Given the description of an element on the screen output the (x, y) to click on. 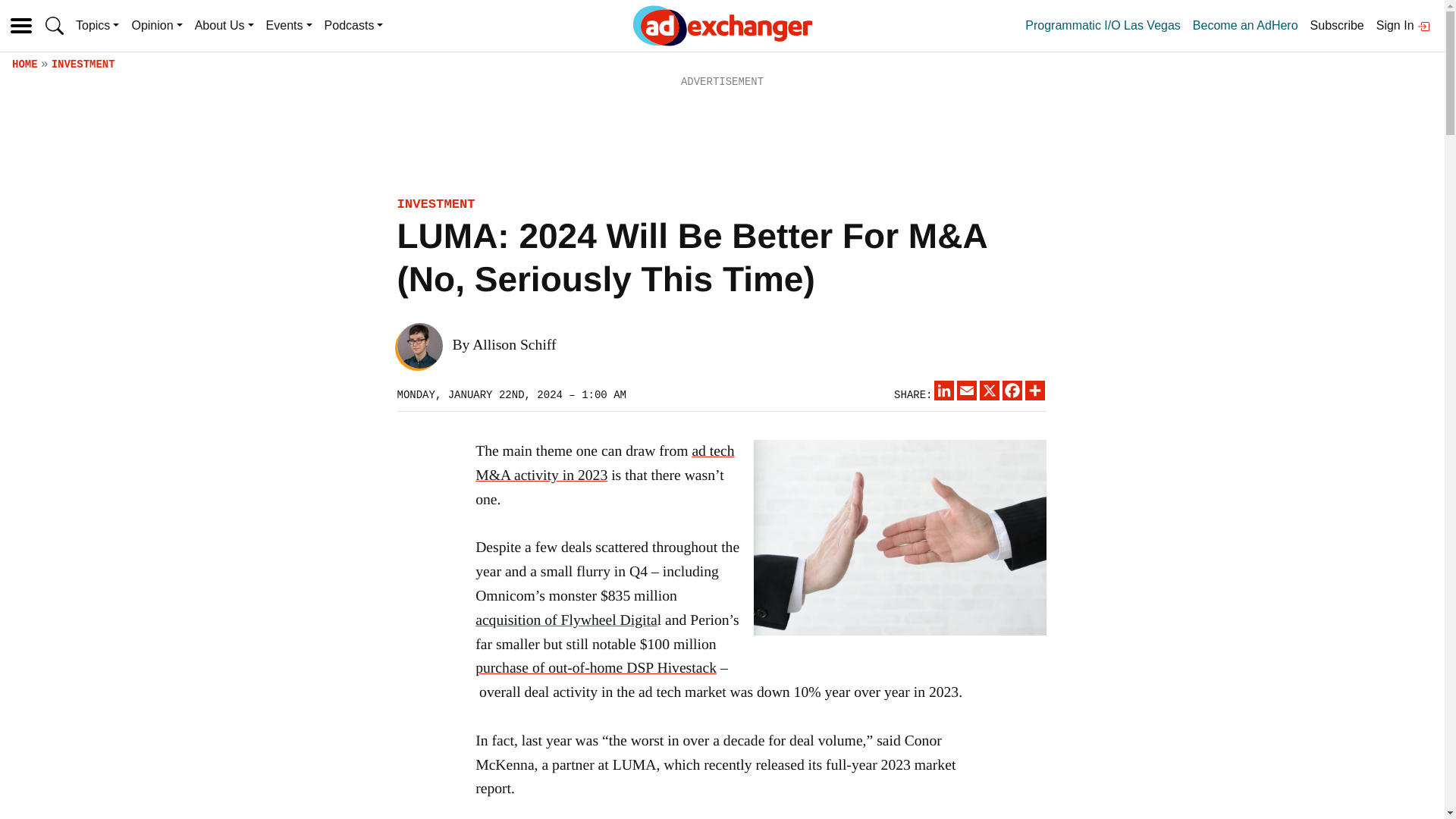
Events (289, 25)
About Us (224, 25)
Opinion (156, 25)
Podcasts (354, 25)
Topics (97, 25)
